Given the description of an element on the screen output the (x, y) to click on. 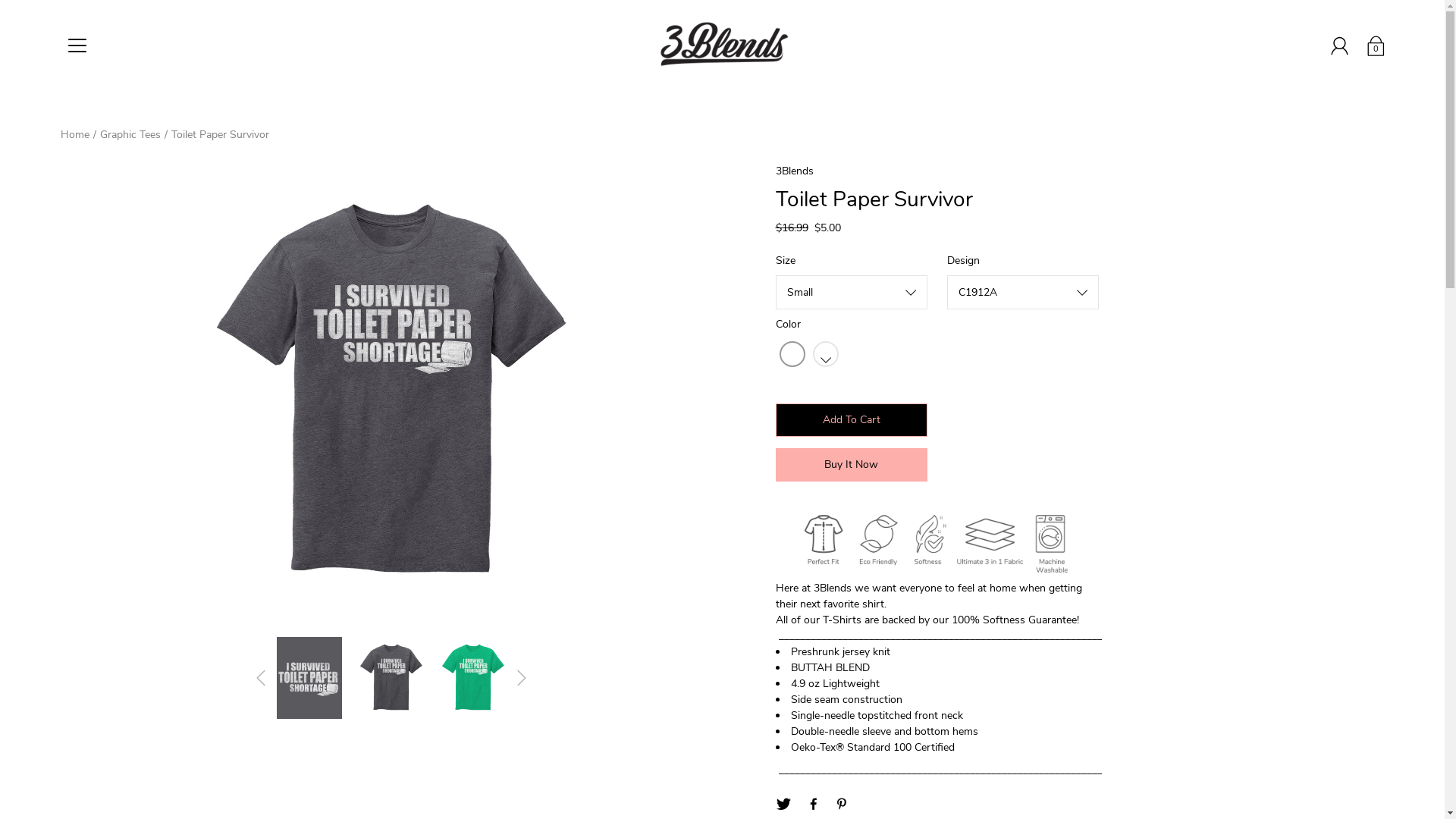
Graphic Tees Element type: text (130, 134)
Add To Cart Element type: text (850, 419)
0 Element type: text (1375, 45)
Home Element type: text (74, 134)
Buy It Now Element type: text (850, 464)
